Given the description of an element on the screen output the (x, y) to click on. 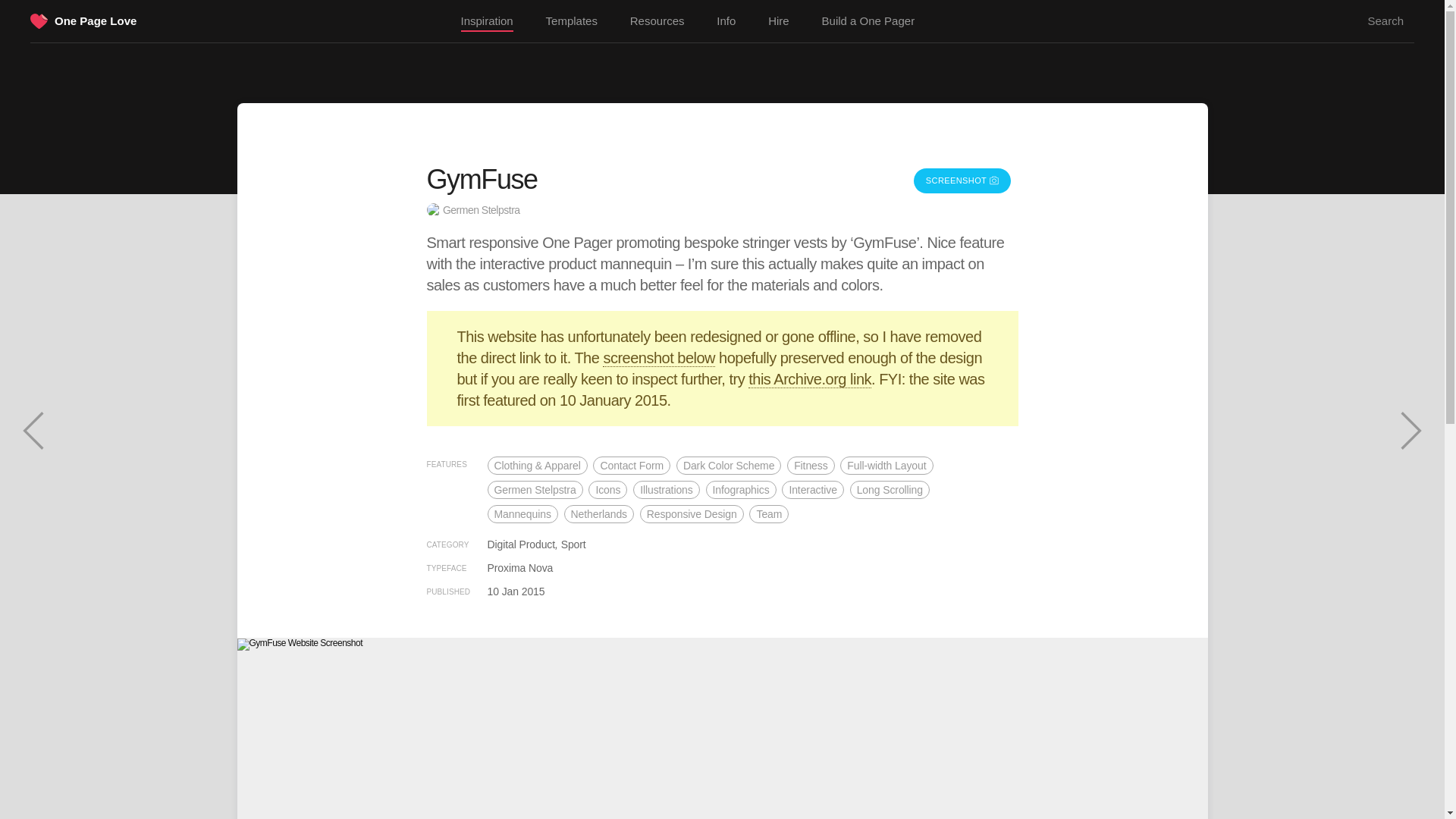
Inspiration (486, 22)
Go to the One Page Love home page (95, 20)
One Page Love (95, 20)
One Page website inspiration gallery (486, 22)
Find One Page website templates (571, 21)
Go to the One Page Love home page (39, 22)
